Given the description of an element on the screen output the (x, y) to click on. 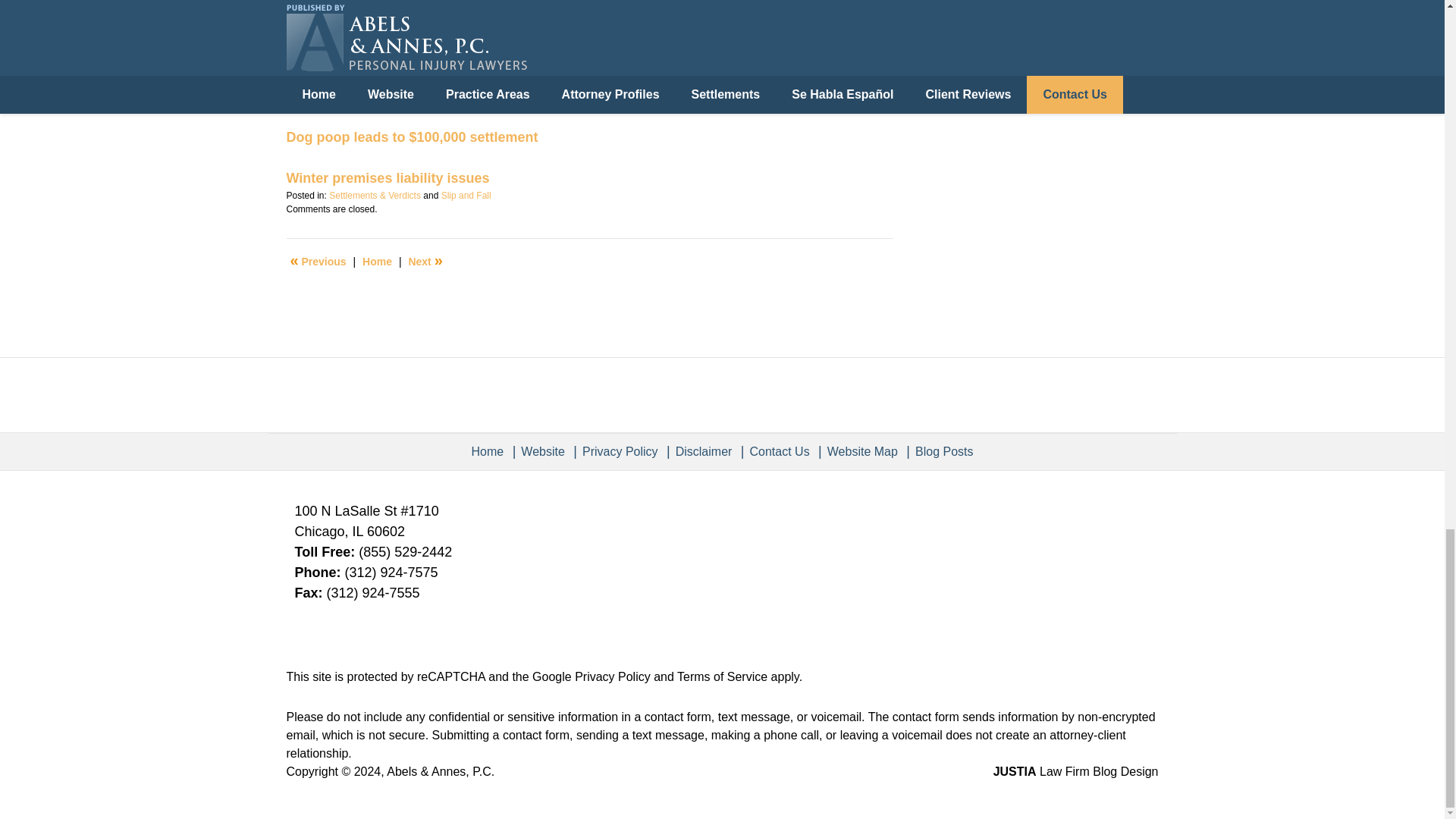
Slip and Fall (466, 195)
YouTube (1123, 22)
Feed (1044, 38)
LinkedIn (1043, 22)
Justia (1082, 22)
View all posts in Slip and Fall (466, 195)
Twitter (1002, 22)
Winter premises liability issues (387, 177)
Facebook (961, 22)
